Given the description of an element on the screen output the (x, y) to click on. 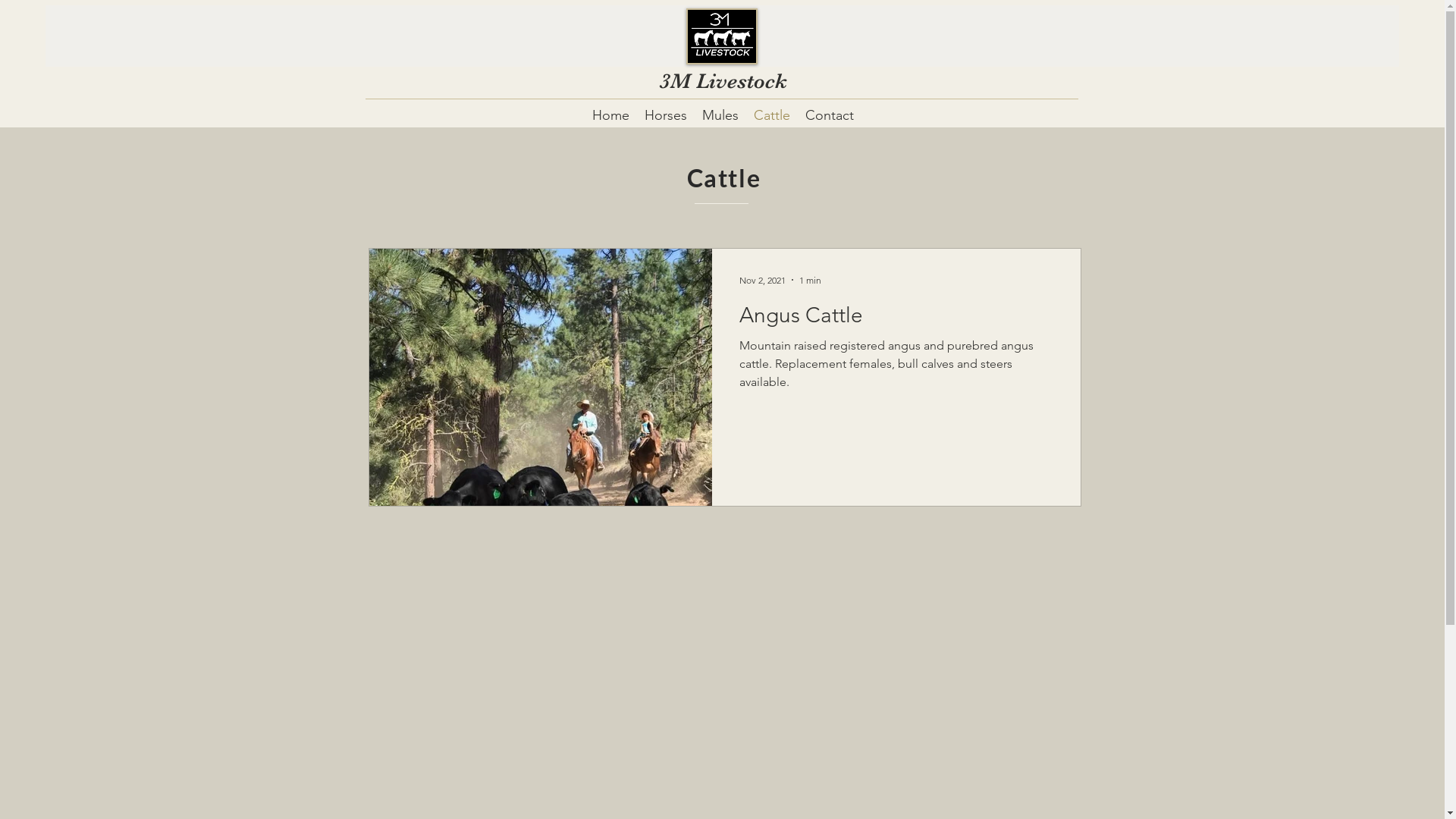
Angus Cattle Element type: text (895, 318)
3M Livestock Element type: text (723, 81)
Home Element type: text (610, 114)
Mules Element type: text (720, 114)
Cattle Element type: text (771, 114)
Contact Element type: text (829, 114)
Horses Element type: text (665, 114)
